Given the description of an element on the screen output the (x, y) to click on. 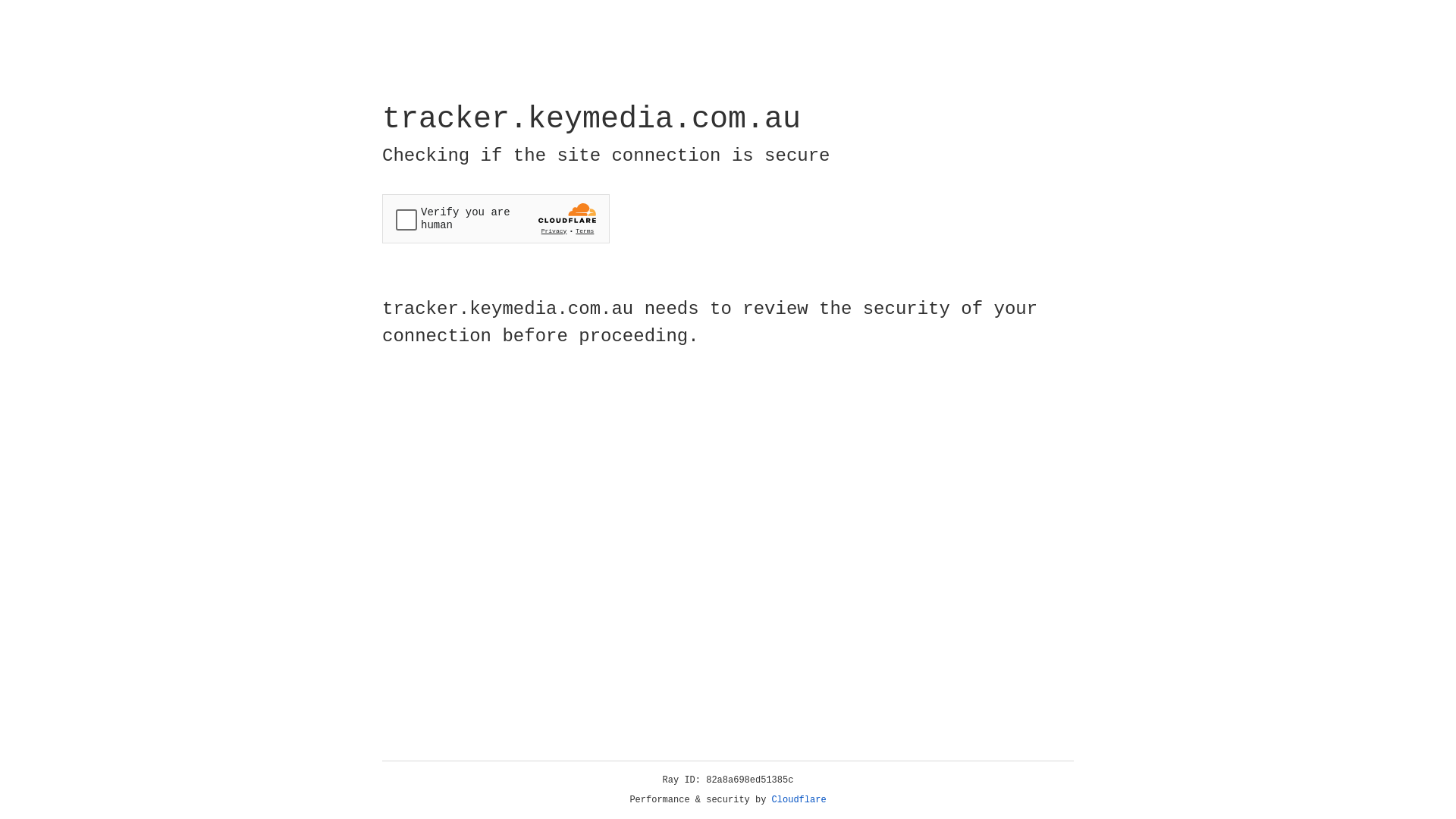
Widget containing a Cloudflare security challenge Element type: hover (495, 218)
Cloudflare Element type: text (798, 799)
